Given the description of an element on the screen output the (x, y) to click on. 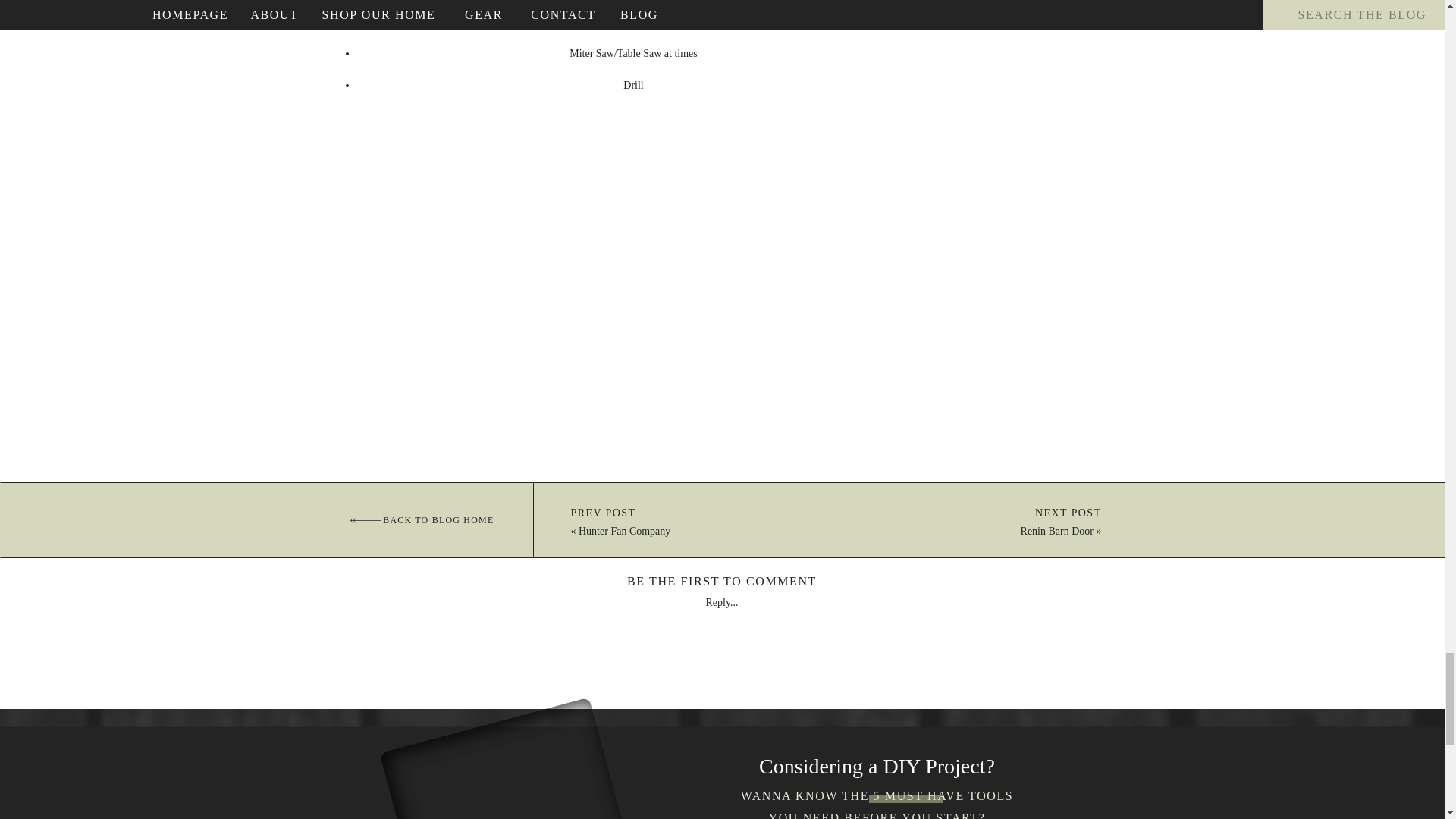
BACK TO BLOG HOME (422, 519)
Asset 1 (365, 520)
BE THE FIRST TO COMMENT (721, 581)
Renin Barn Door (1056, 531)
Hunter Fan Company (623, 531)
Asset 1 (365, 520)
